Given the description of an element on the screen output the (x, y) to click on. 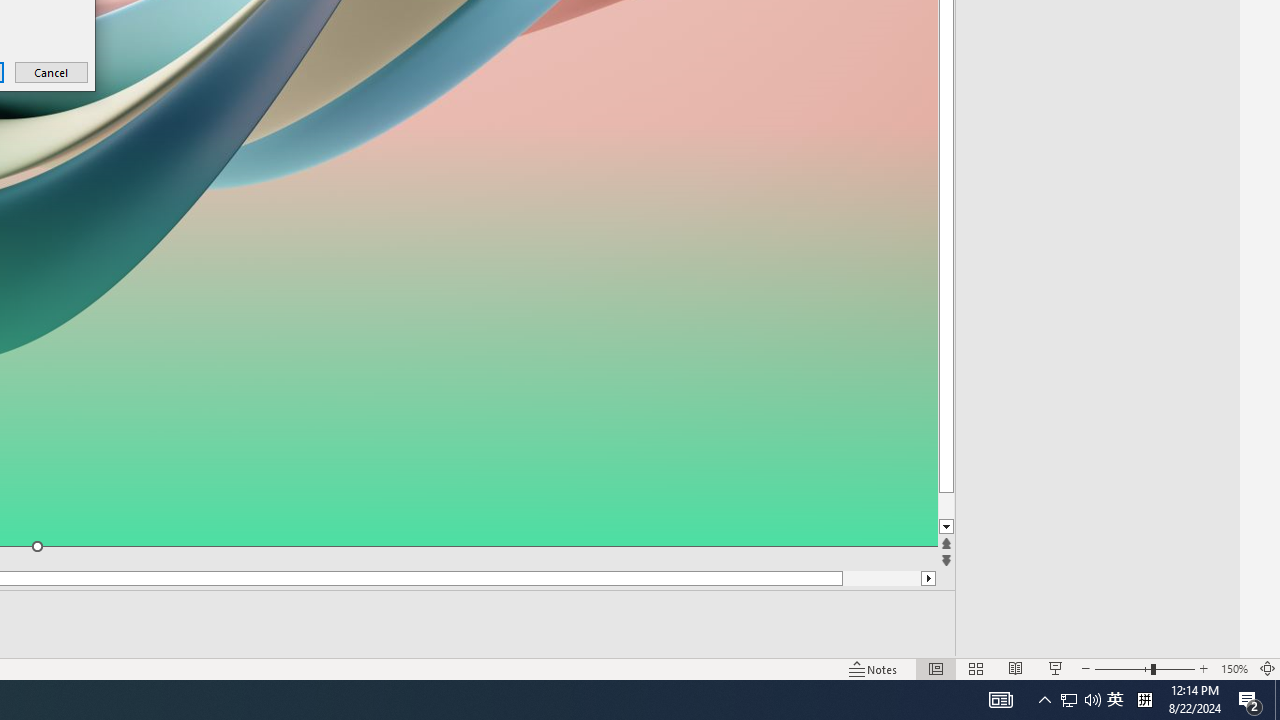
Zoom 150% (1234, 668)
